Given the description of an element on the screen output the (x, y) to click on. 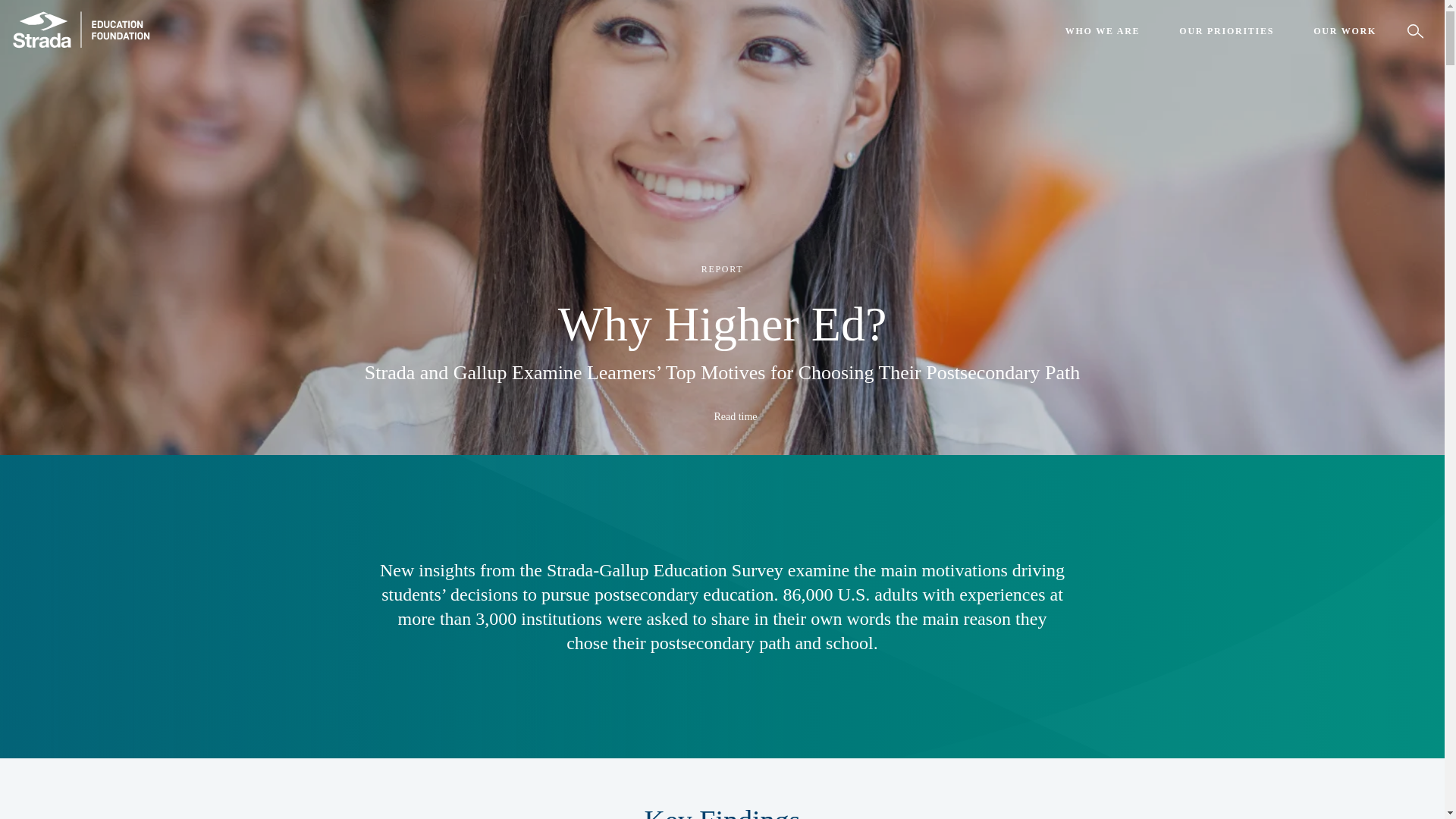
OUR PRIORITIES (1226, 31)
WHO WE ARE (1102, 31)
OUR WORK (1345, 31)
